Given the description of an element on the screen output the (x, y) to click on. 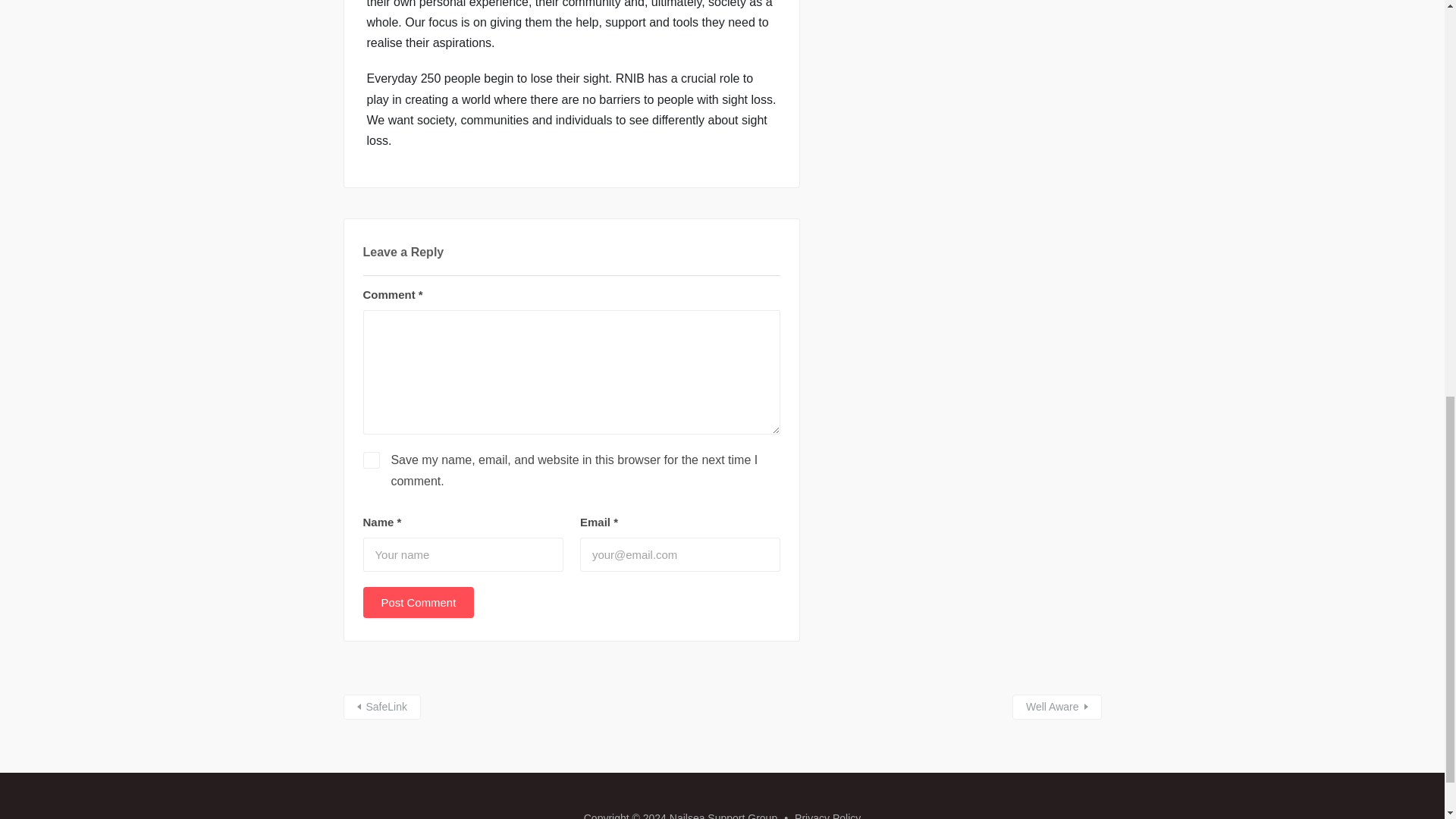
Post Comment (418, 602)
yes (370, 460)
